Given the description of an element on the screen output the (x, y) to click on. 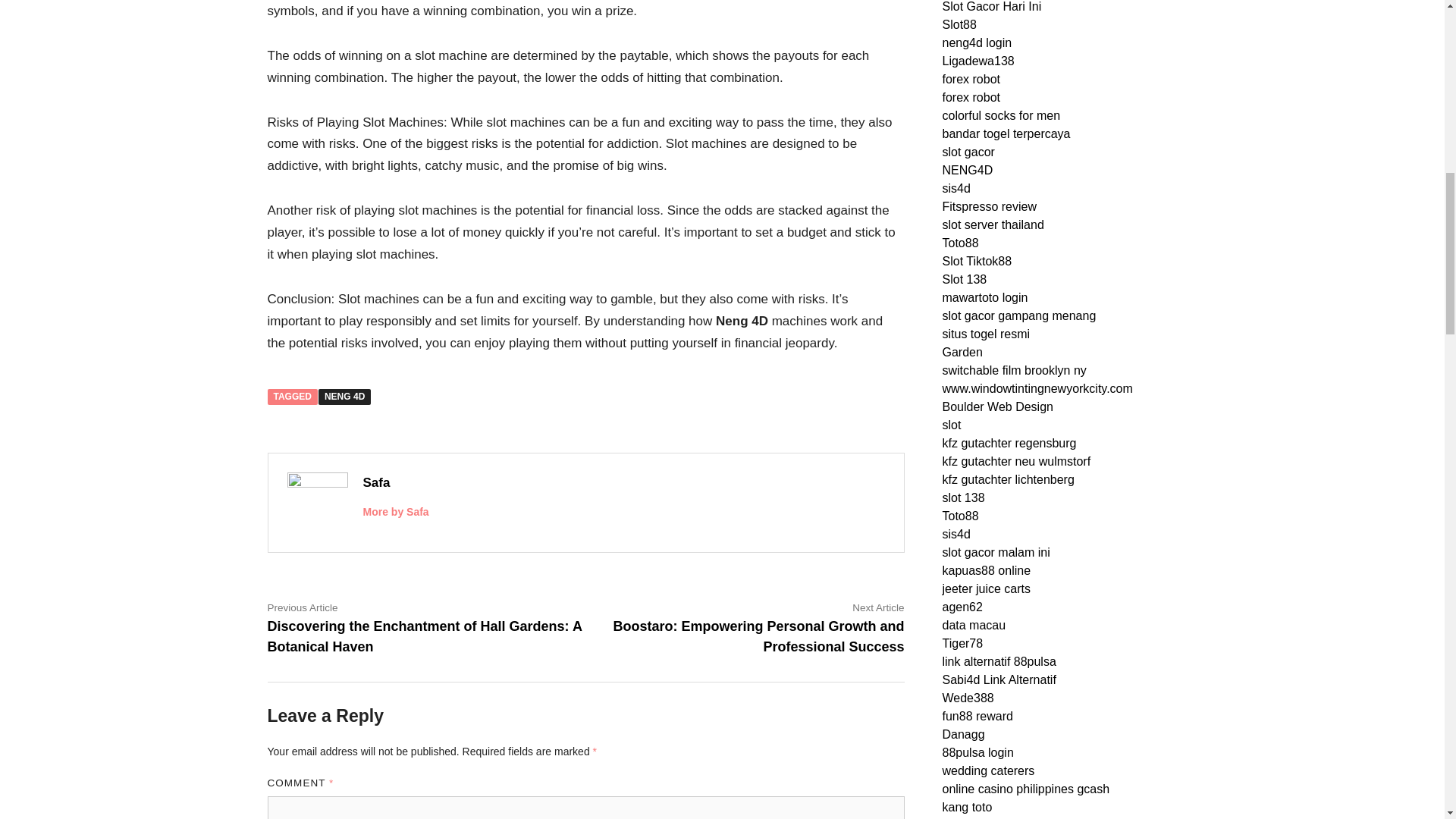
Safa (376, 481)
More by Safa (395, 511)
NENG 4D (344, 397)
